Given the description of an element on the screen output the (x, y) to click on. 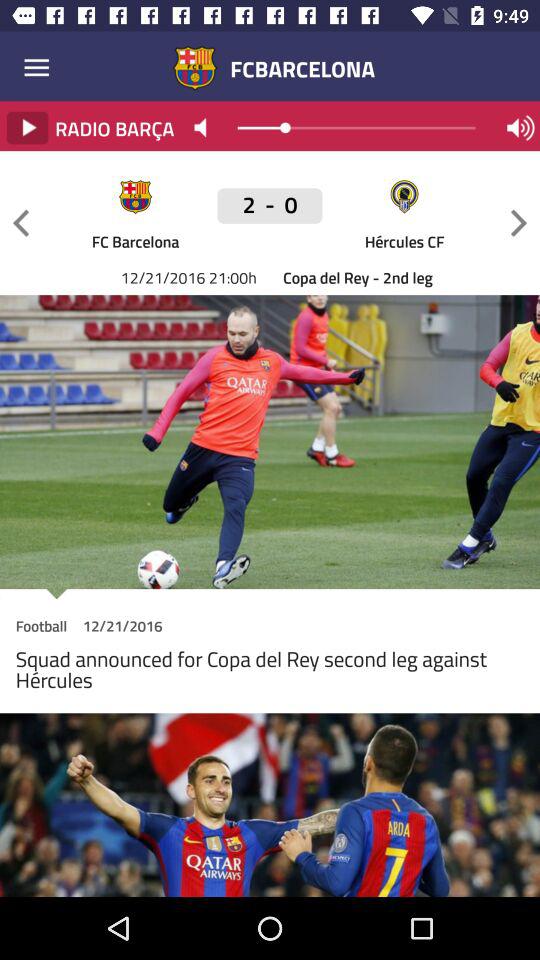
turn on football item (41, 628)
